Given the description of an element on the screen output the (x, y) to click on. 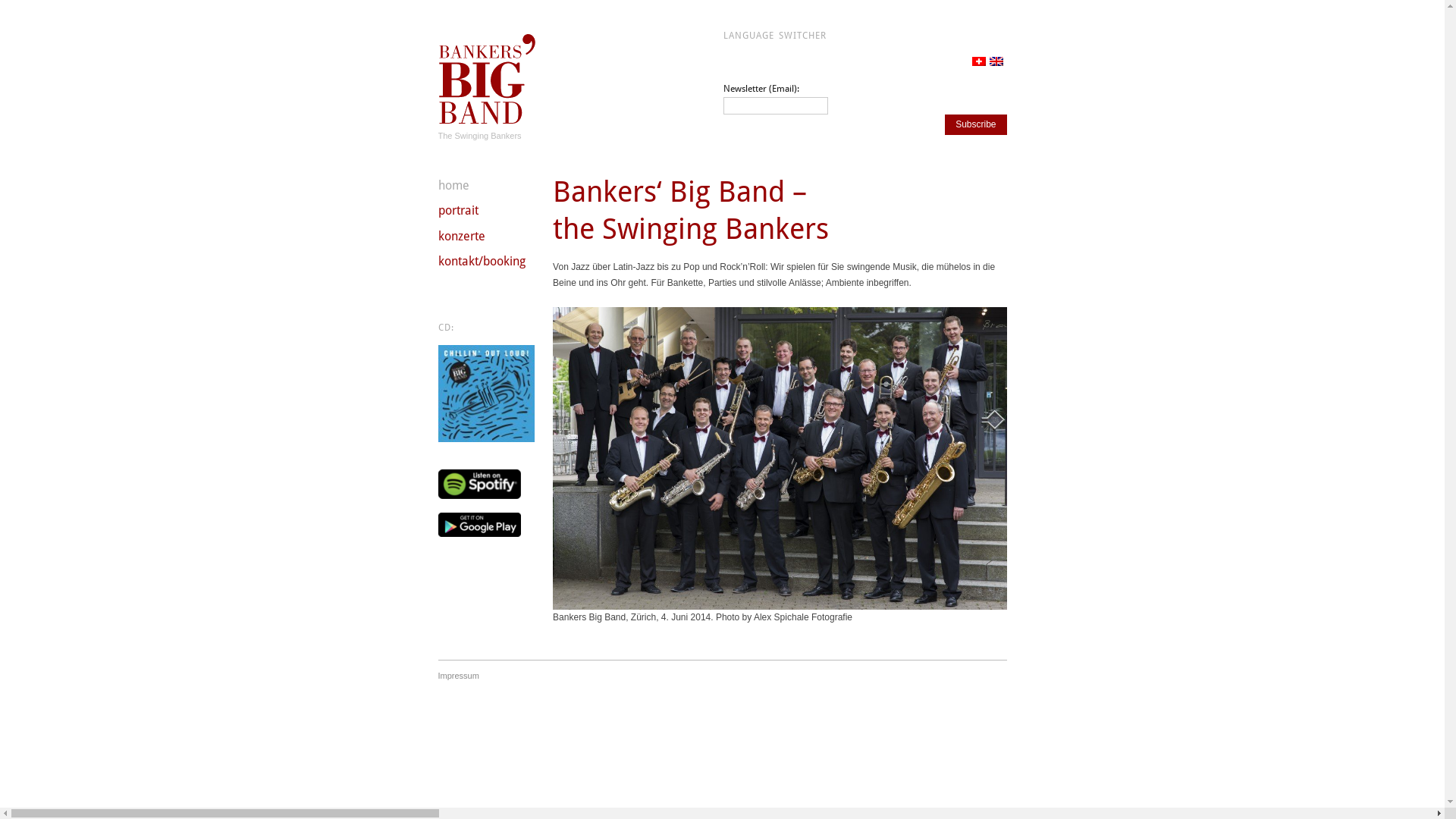
Impressum Element type: text (458, 675)
portrait Element type: text (458, 210)
kontakt/booking Element type: text (481, 261)
home Element type: text (453, 184)
konzerte Element type: text (461, 236)
Subscribe Element type: text (975, 124)
